Given the description of an element on the screen output the (x, y) to click on. 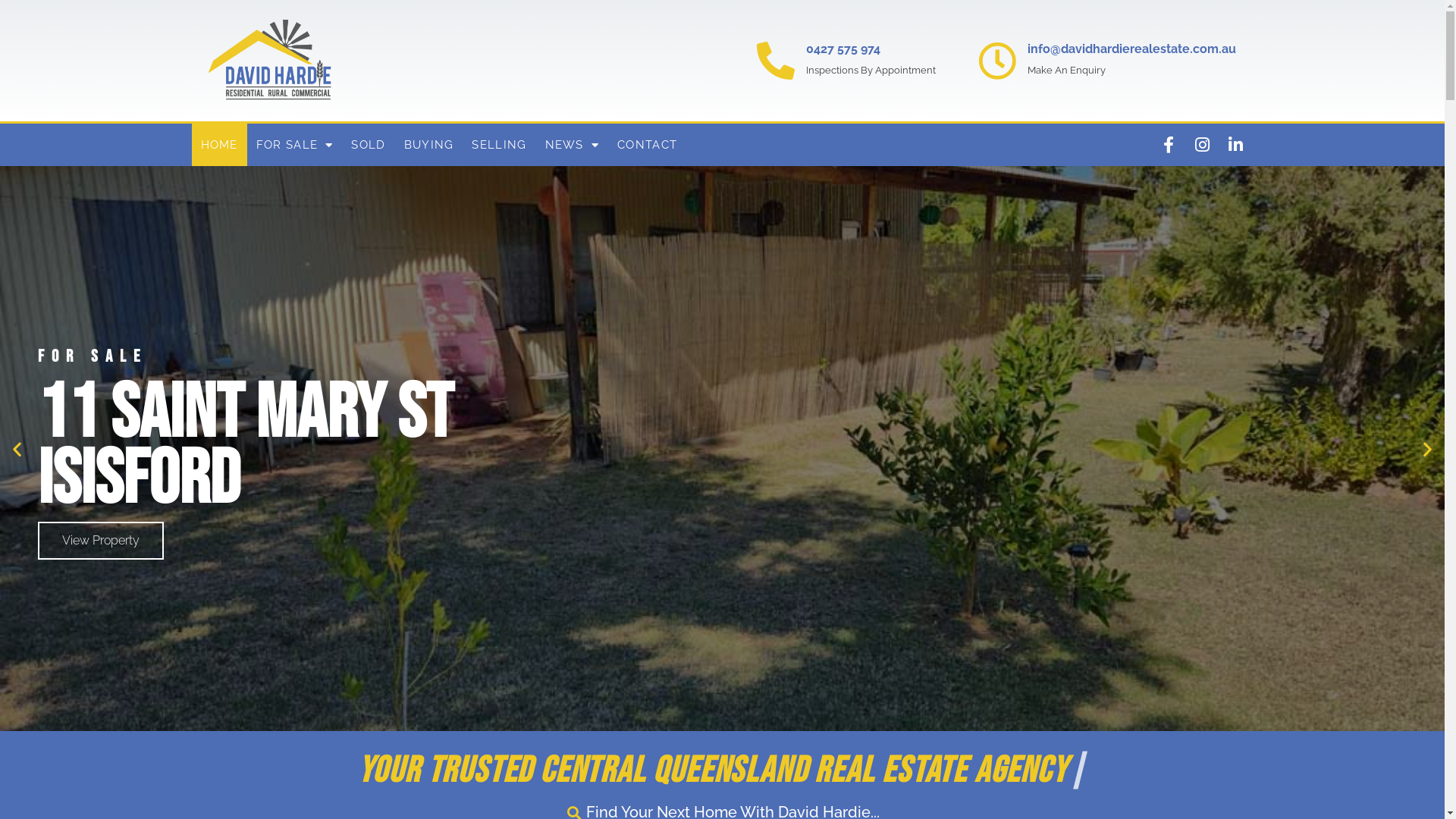
NEWS Element type: text (572, 144)
FOR SALE Element type: text (294, 144)
HOME Element type: text (218, 144)
SOLD Element type: text (368, 144)
CONTACT Element type: text (647, 144)
BUYING Element type: text (429, 144)
info@davidhardierealestate.com.au Element type: text (1131, 48)
0427 575 974 Element type: text (843, 48)
SELLING Element type: text (498, 144)
PRICE REDUCED
68-72 Shamrock St
Blackall
View Property Element type: text (722, 448)
